Given the description of an element on the screen output the (x, y) to click on. 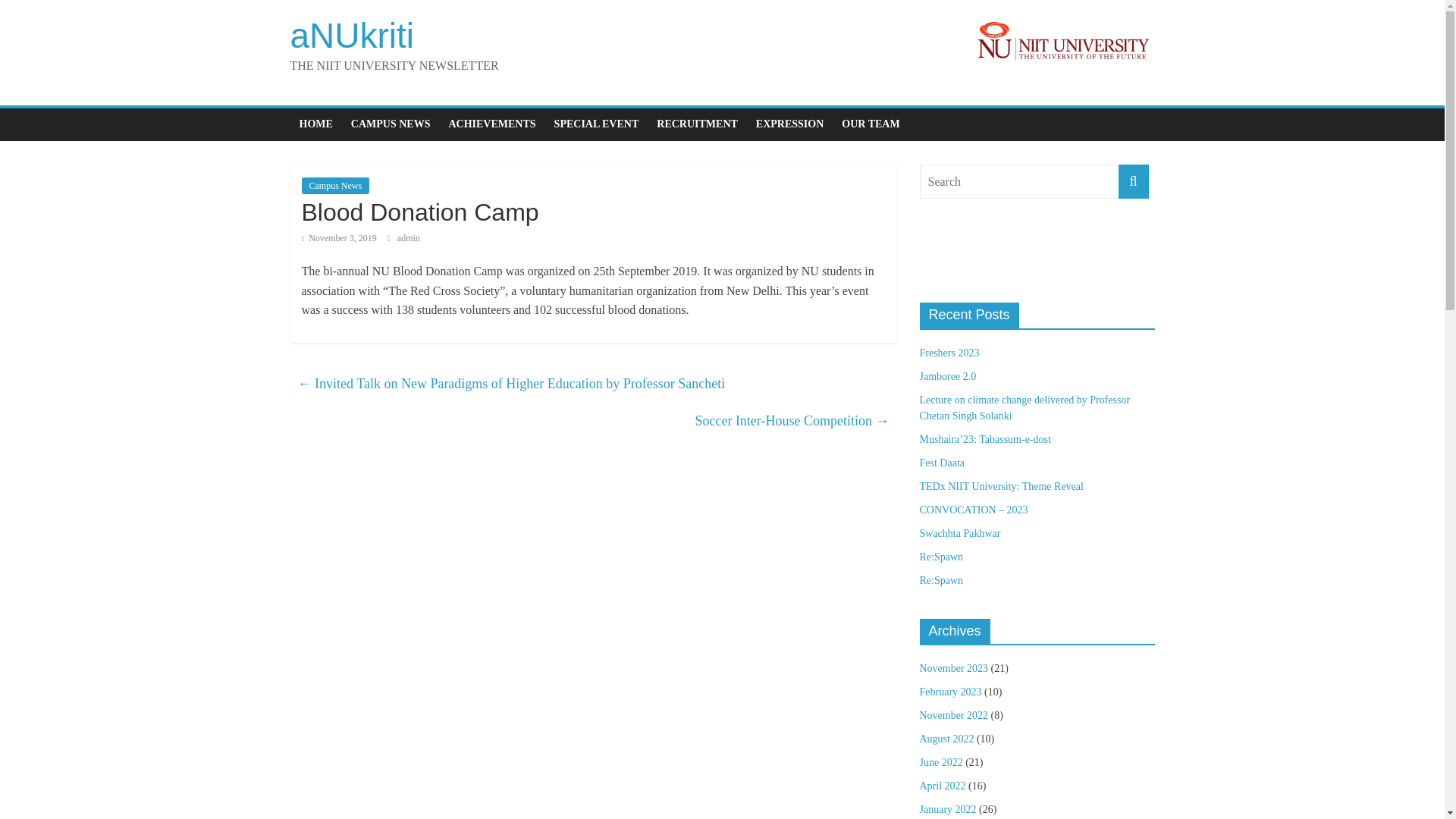
aNUkriti (351, 35)
February 2023 (949, 691)
April 2022 (941, 785)
January 2022 (946, 808)
Campus News (335, 185)
November 3, 2019 (339, 237)
Re:Spawn (940, 556)
4:10 pm (339, 237)
June 2022 (940, 762)
Re:Spawn (940, 580)
